Given the description of an element on the screen output the (x, y) to click on. 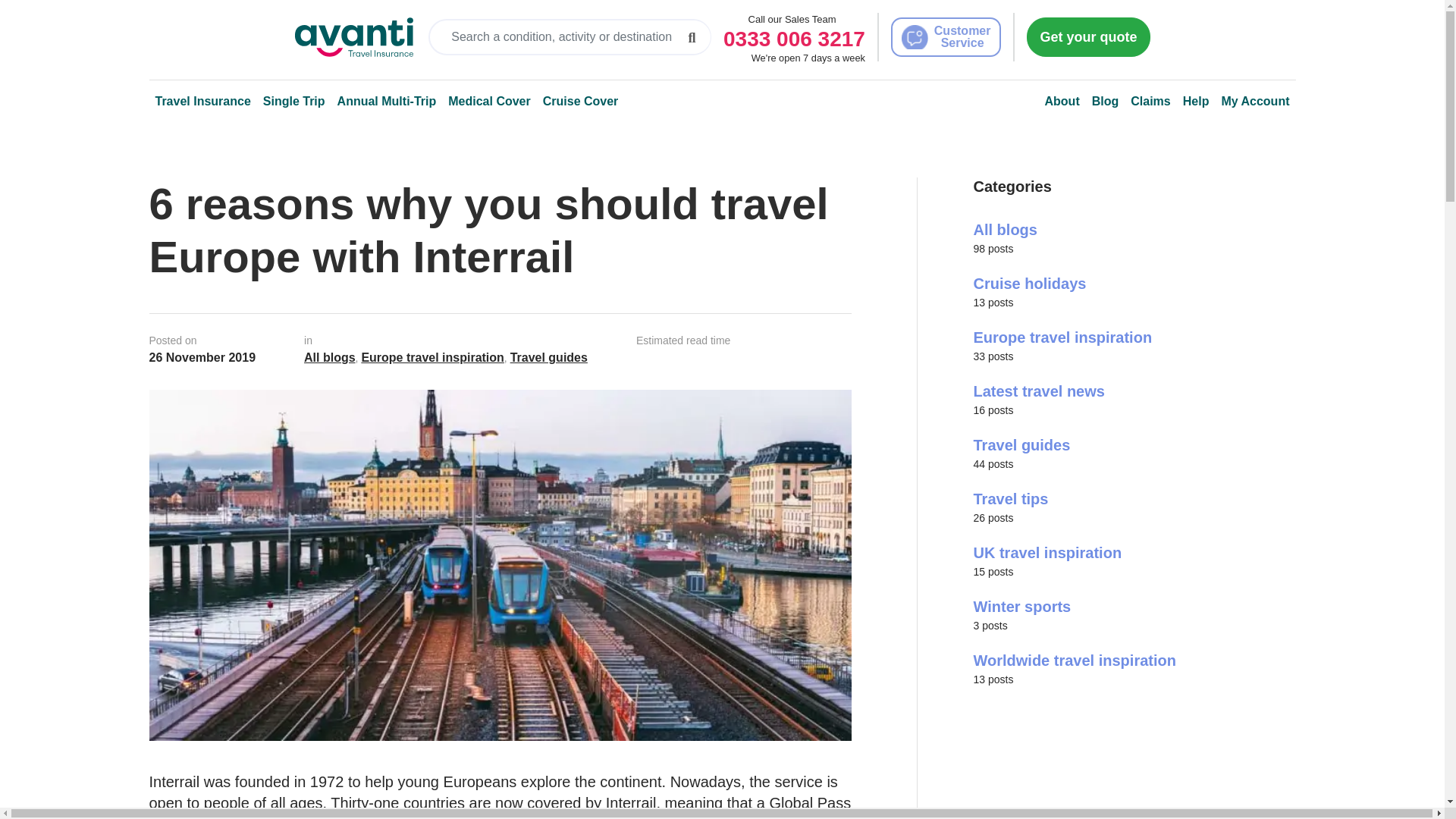
Claims (1150, 101)
Cruise Cover (580, 101)
Travel Insurance (202, 101)
Medical Cover (488, 101)
Claims (1150, 101)
Single Trip (294, 101)
Medical Cover (488, 101)
Annual Multi-Trip (386, 101)
My Account (1254, 101)
0333 006 3217 (793, 38)
About (1062, 101)
Customer Service (946, 36)
Help (1195, 101)
Single Trip (294, 101)
Blog (1105, 101)
